Given the description of an element on the screen output the (x, y) to click on. 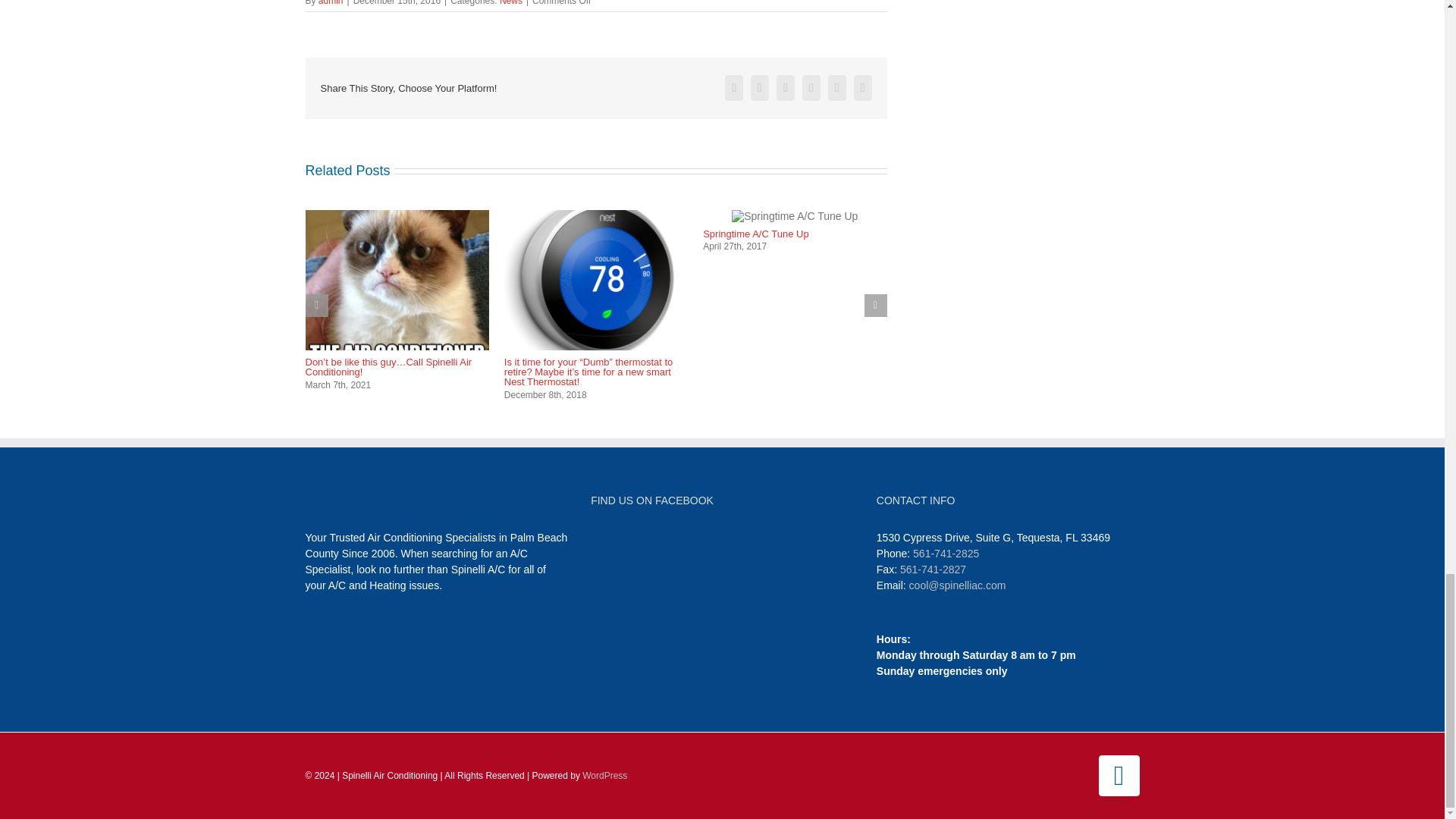
News (510, 2)
Posts by admin (330, 2)
admin (330, 2)
